Given the description of an element on the screen output the (x, y) to click on. 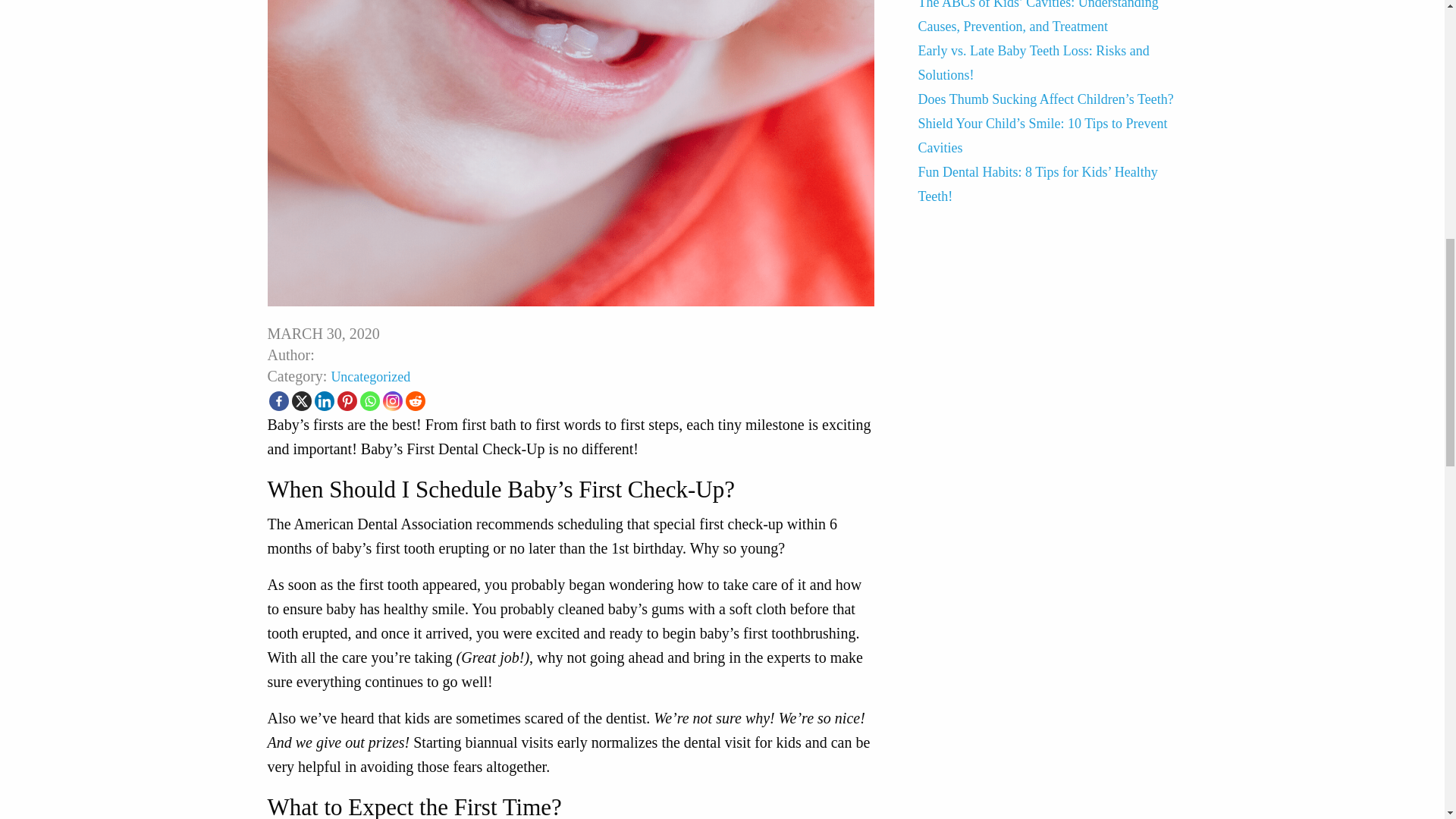
Facebook (277, 401)
X (301, 401)
Pinterest (346, 401)
Reddit (414, 401)
Instagram (391, 401)
Whatsapp (368, 401)
Uncategorized (370, 376)
Linkedin (323, 401)
